Given the description of an element on the screen output the (x, y) to click on. 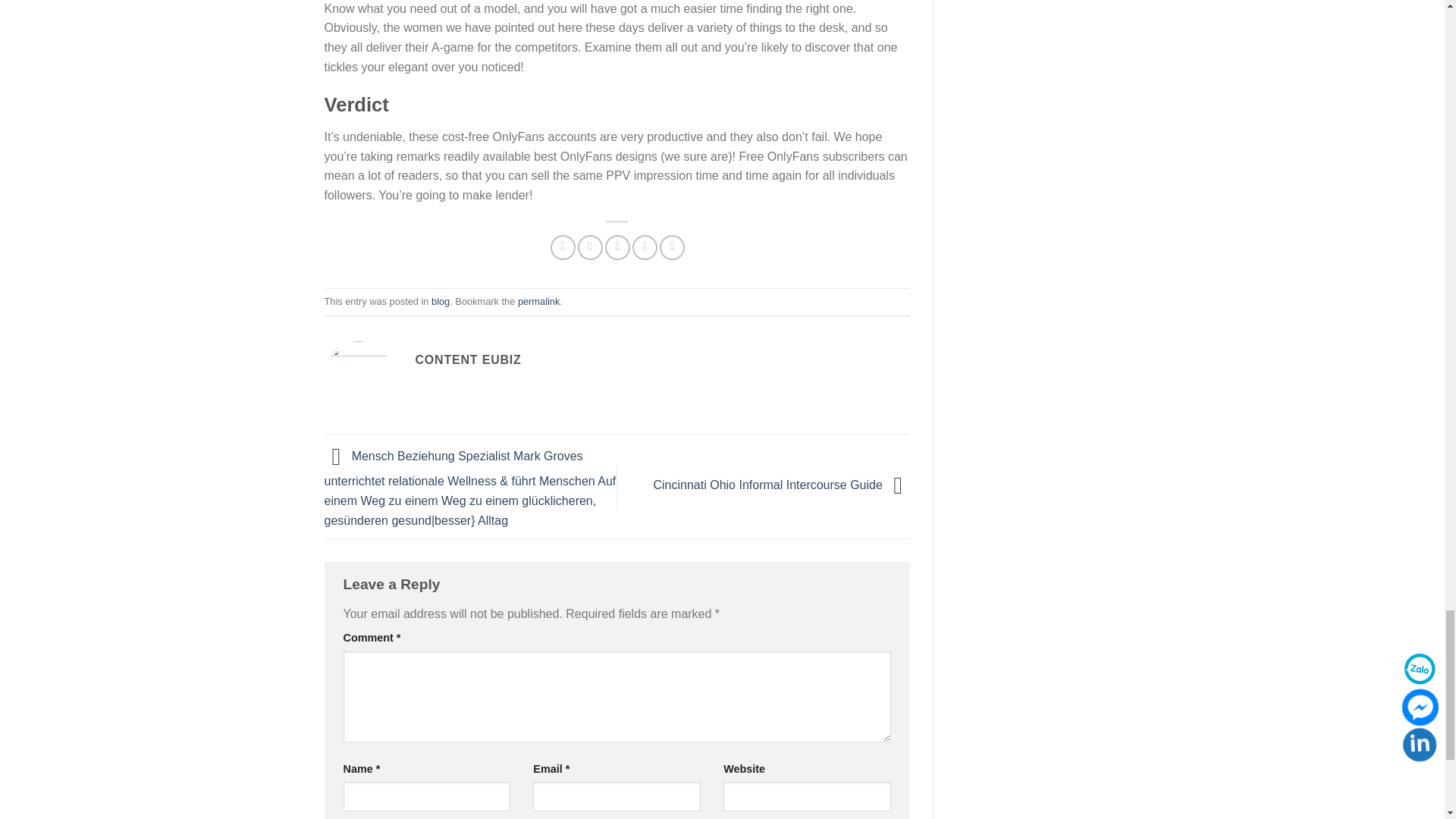
Share on Facebook (562, 247)
Share on Twitter (590, 247)
Email to a Friend (617, 247)
Share on LinkedIn (671, 247)
blog (439, 301)
Permalink to Free Only Fans Trial Best OnlyFans Site (538, 301)
permalink (538, 301)
Pin on Pinterest (644, 247)
Cincinnati Ohio Informal Intercourse Guide (782, 485)
